Given the description of an element on the screen output the (x, y) to click on. 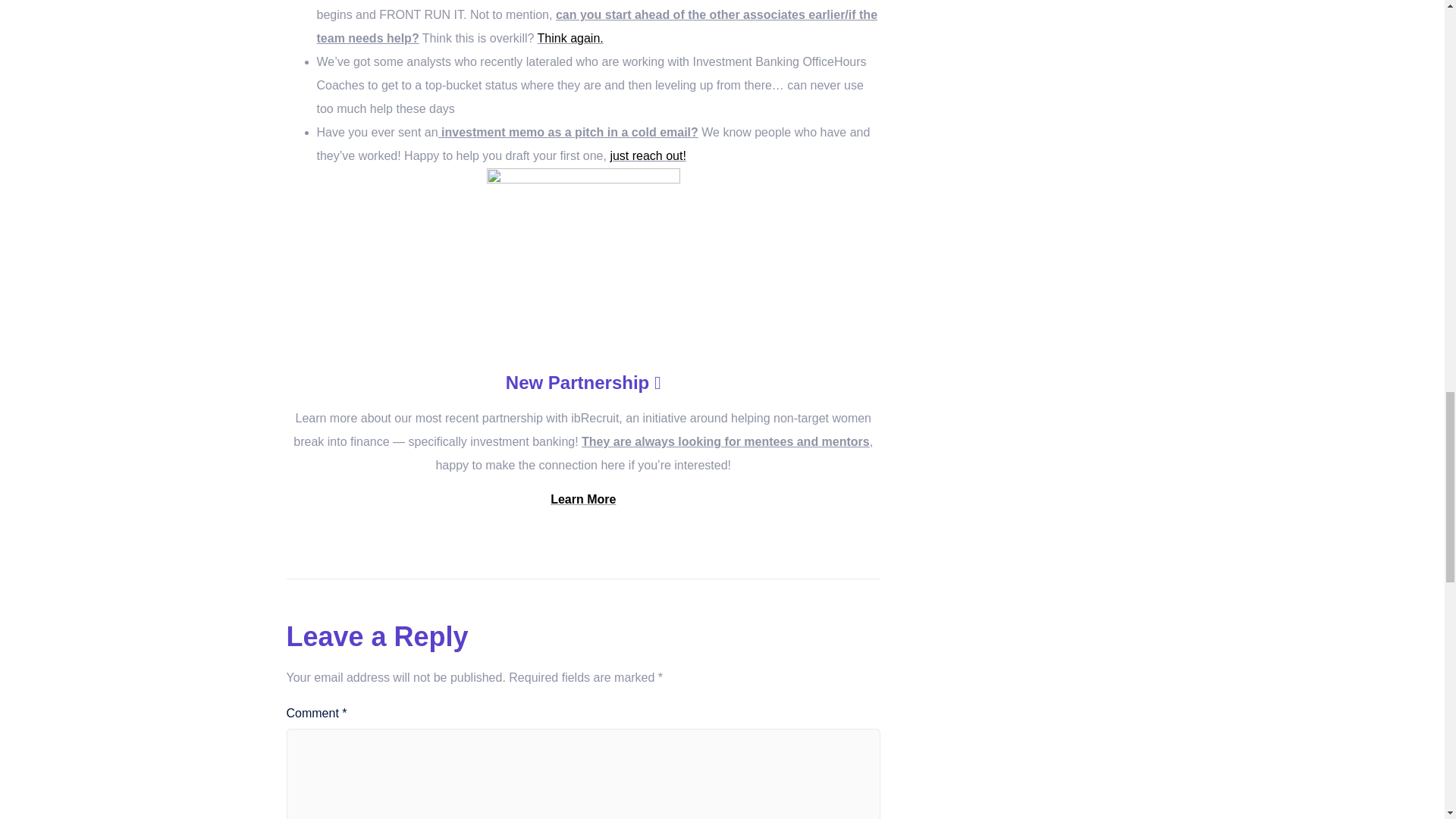
Learn More (582, 499)
Think again. (570, 38)
just reach out! (647, 155)
